Given the description of an element on the screen output the (x, y) to click on. 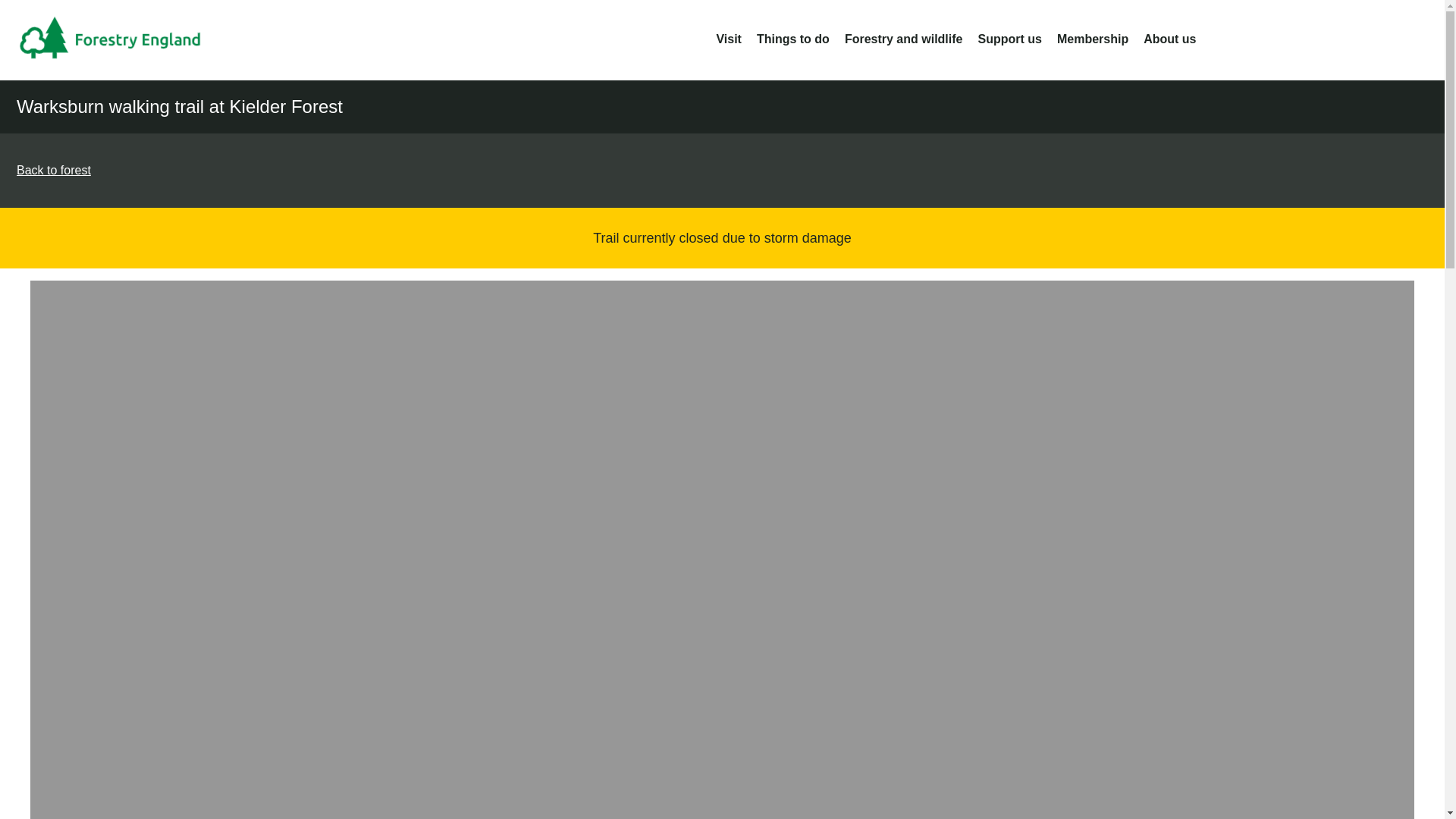
Visit (728, 38)
Home (120, 40)
Things to do (793, 38)
Forestry and wildlife (903, 38)
